Given the description of an element on the screen output the (x, y) to click on. 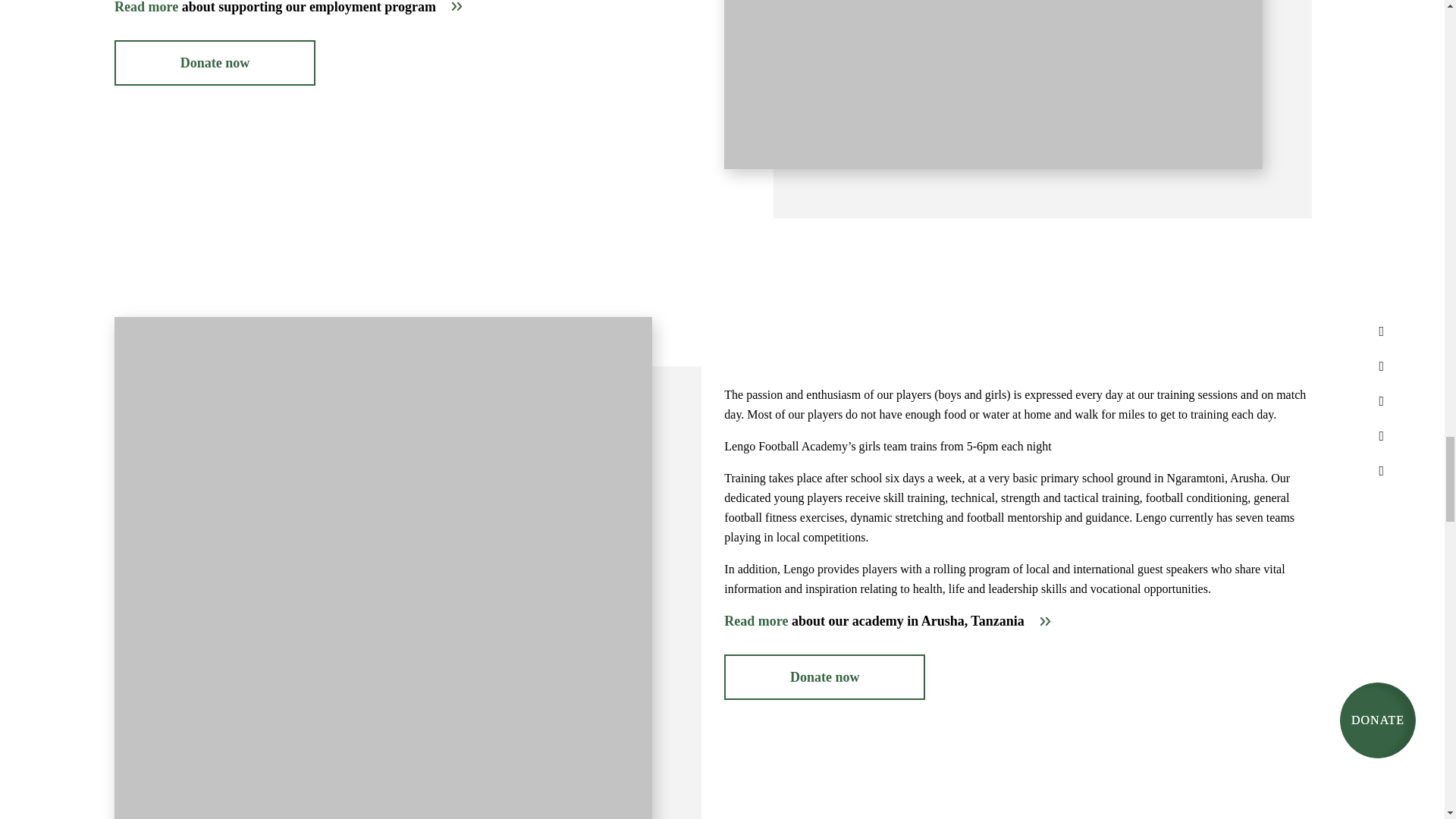
Donate now (215, 62)
Read more about our academy in Arusha, Tanzania (887, 620)
Read more about supporting our employment program (289, 8)
Donate now (823, 677)
